Given the description of an element on the screen output the (x, y) to click on. 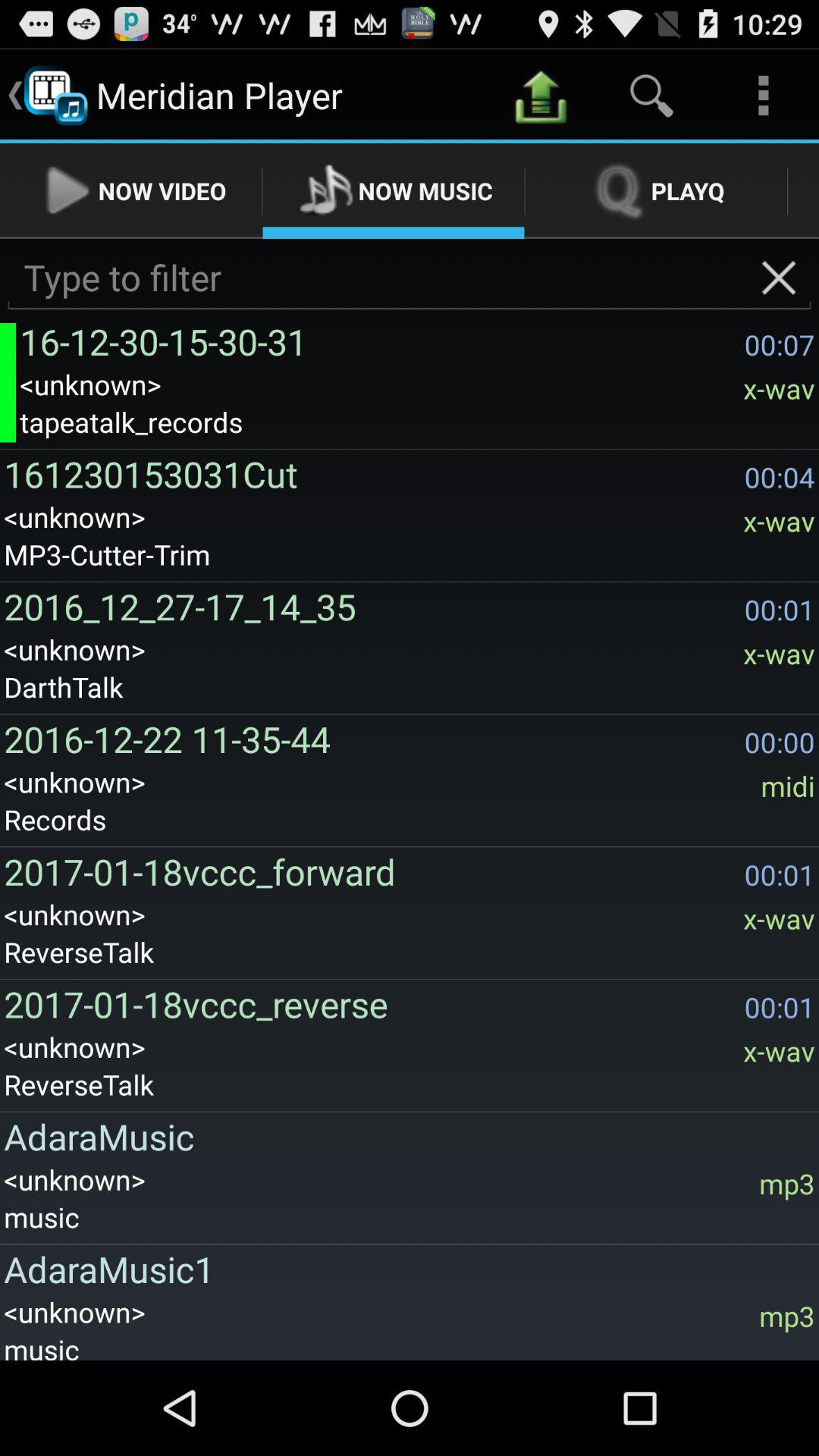
choose icon above the <unknown> (405, 1136)
